Given the description of an element on the screen output the (x, y) to click on. 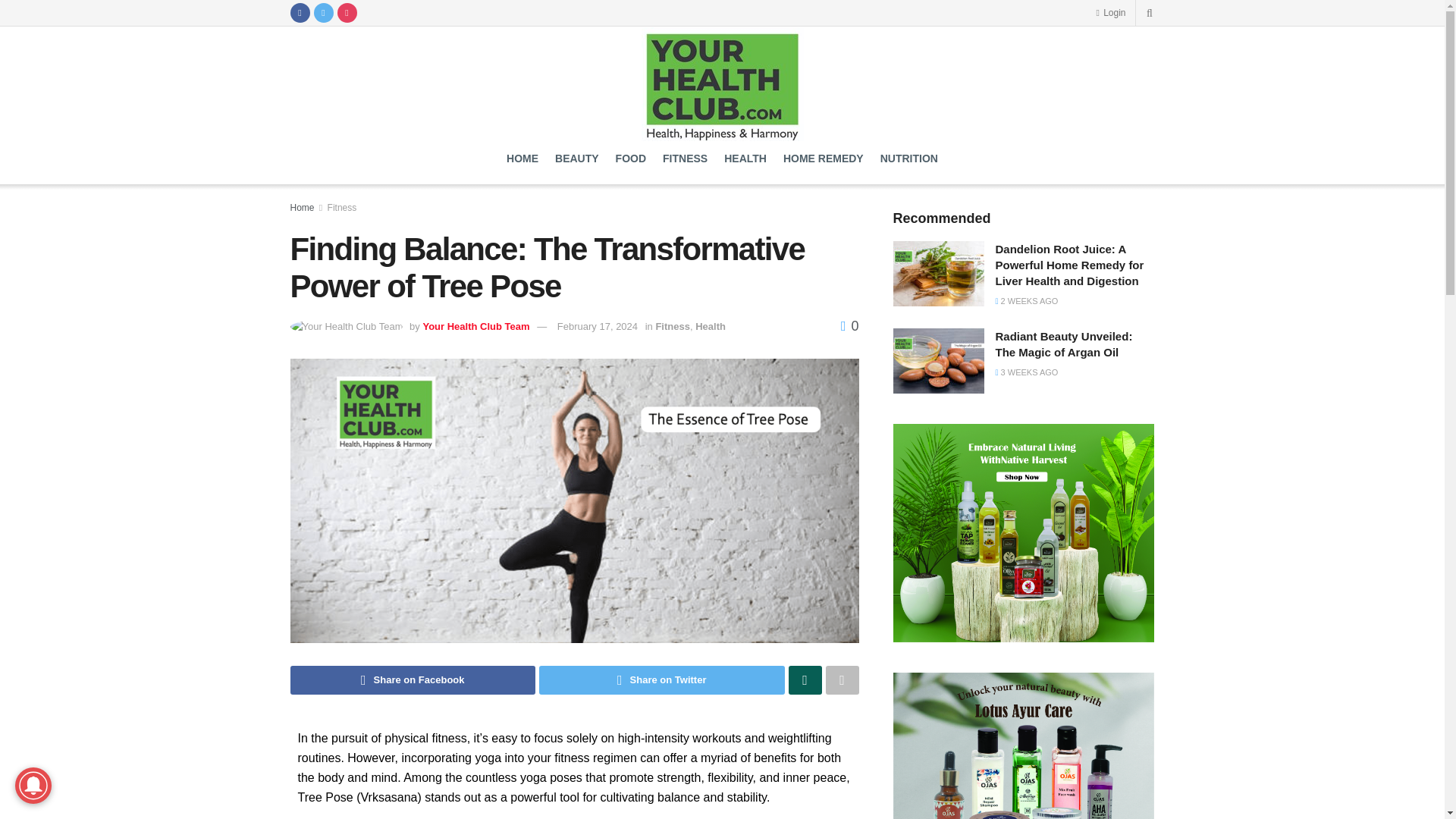
BEAUTY (576, 158)
February 17, 2024 (597, 326)
Share on Facebook (412, 679)
HEALTH (745, 158)
NUTRITION (908, 158)
Your Health Club Team (475, 326)
Health (710, 326)
HOME REMEDY (823, 158)
FITNESS (684, 158)
Login (1110, 12)
HOME (522, 158)
0 (850, 325)
Share on Twitter (661, 679)
Fitness (341, 207)
Home (301, 207)
